Given the description of an element on the screen output the (x, y) to click on. 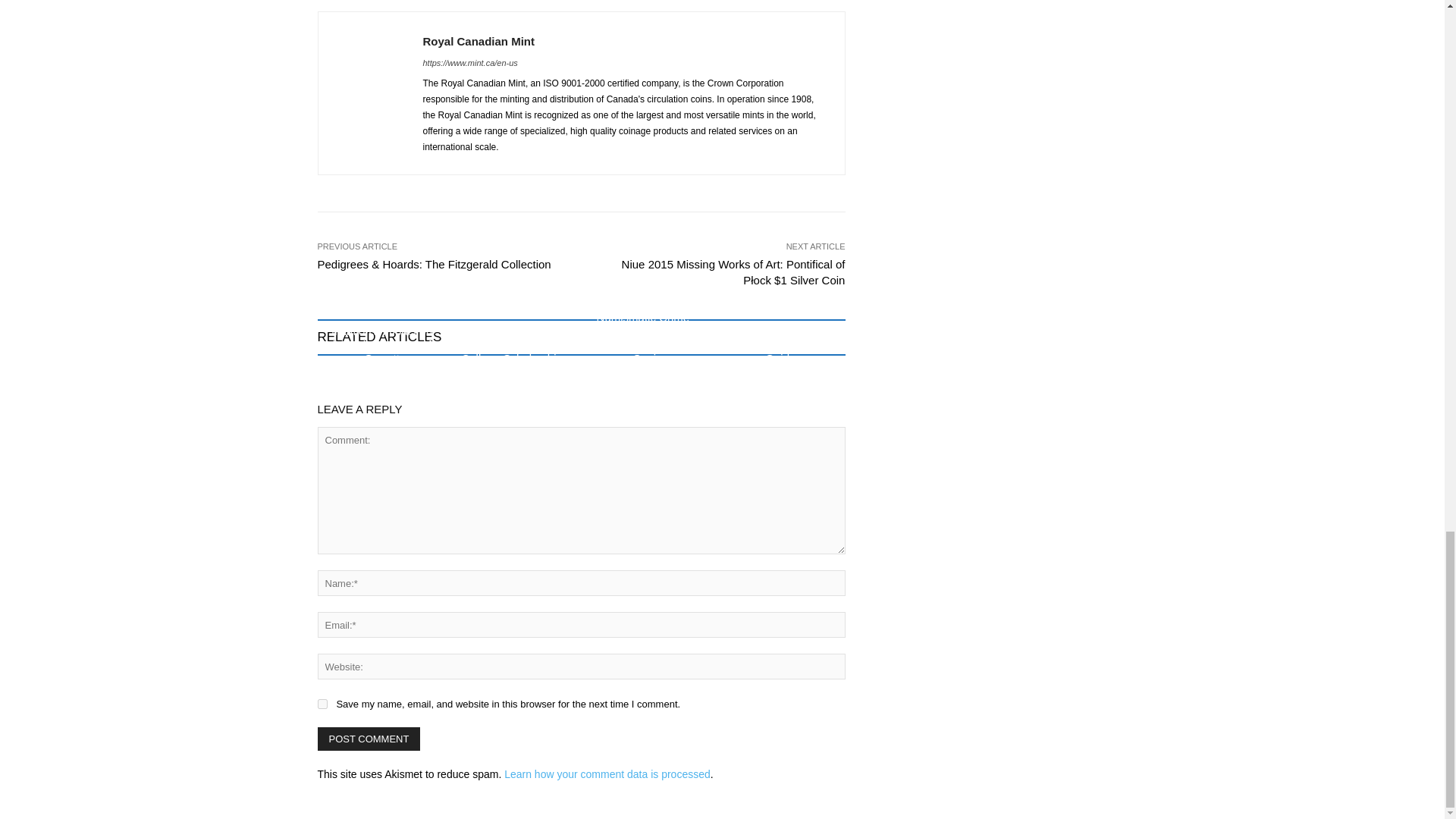
ANA Awards 2024 College Scholarships (514, 351)
Post Comment (368, 739)
yes (321, 704)
